Given the description of an element on the screen output the (x, y) to click on. 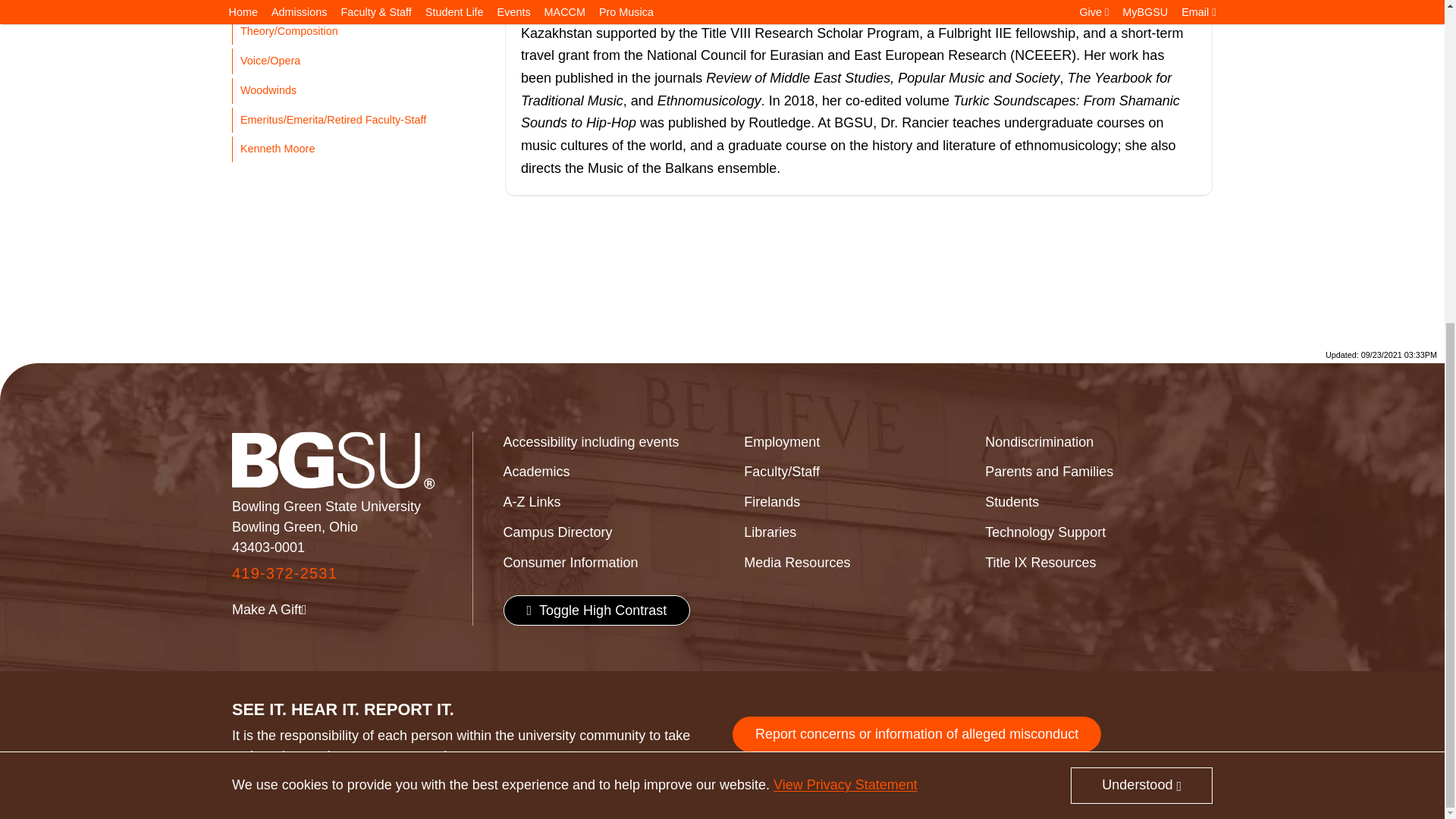
View Privacy Statement (845, 258)
Understood  (1141, 258)
